Given the description of an element on the screen output the (x, y) to click on. 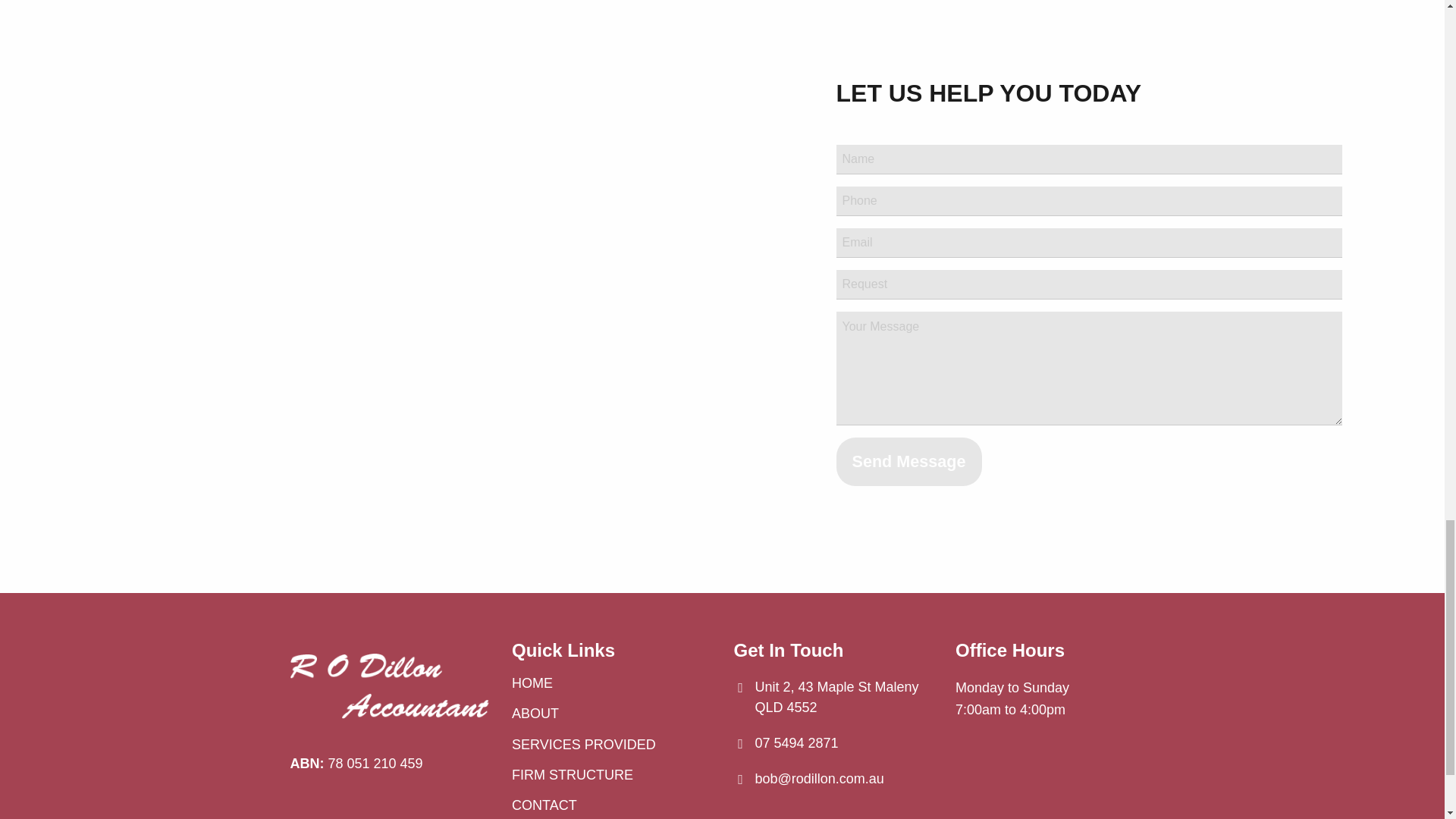
07 5494 2871 (796, 743)
HOME (611, 683)
Send Message (908, 461)
CONTACT (611, 804)
Send Message (908, 461)
FIRM STRUCTURE (611, 775)
ABOUT (611, 713)
SERVICES PROVIDED (611, 743)
